Given the description of an element on the screen output the (x, y) to click on. 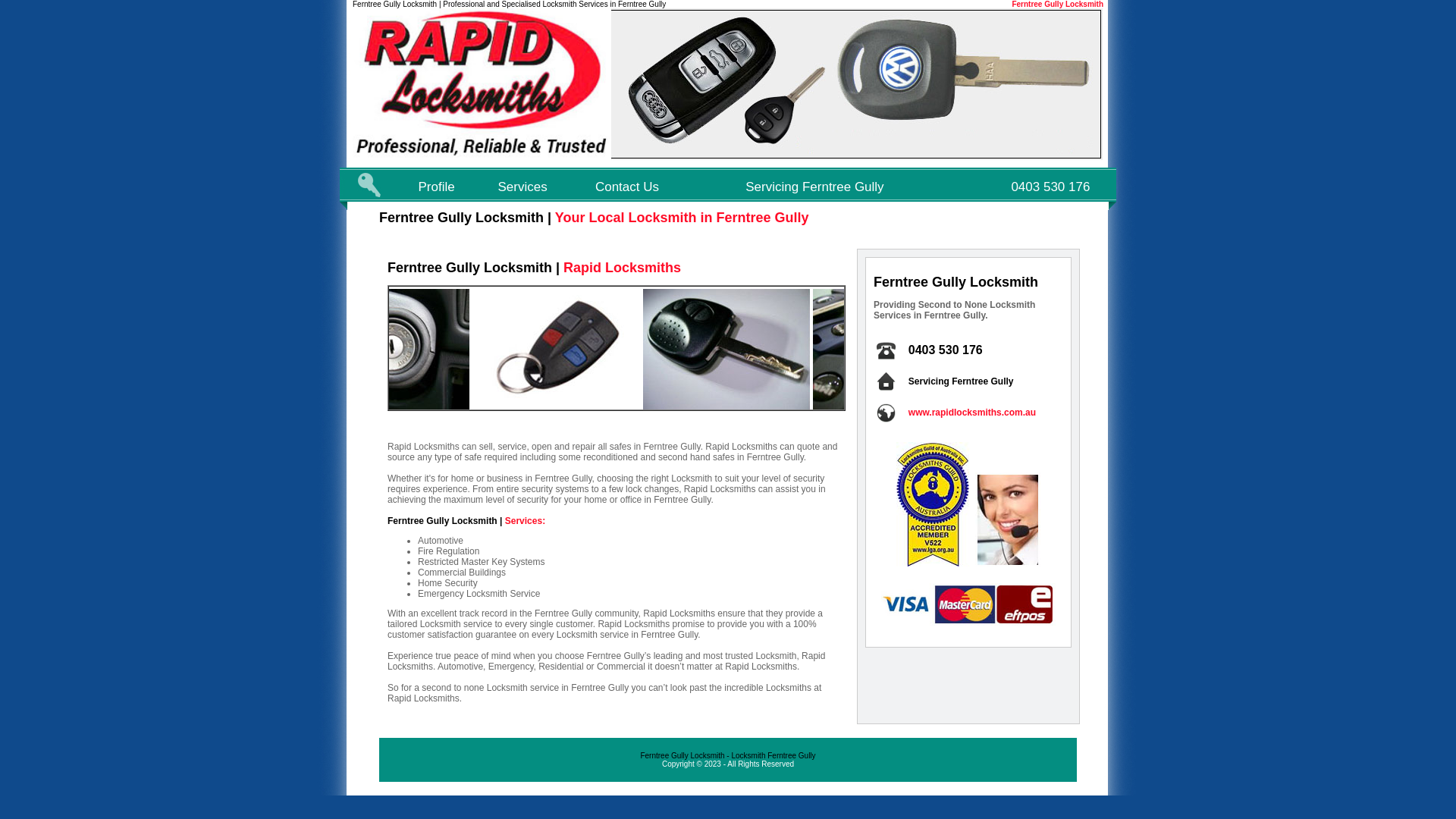
Ferntree Gully Locksmith Element type: text (1057, 4)
Profile Element type: text (436, 185)
www.rapidlocksmiths.com.au Element type: text (971, 412)
Services Element type: text (522, 185)
Contact Us Element type: text (626, 185)
